Given the description of an element on the screen output the (x, y) to click on. 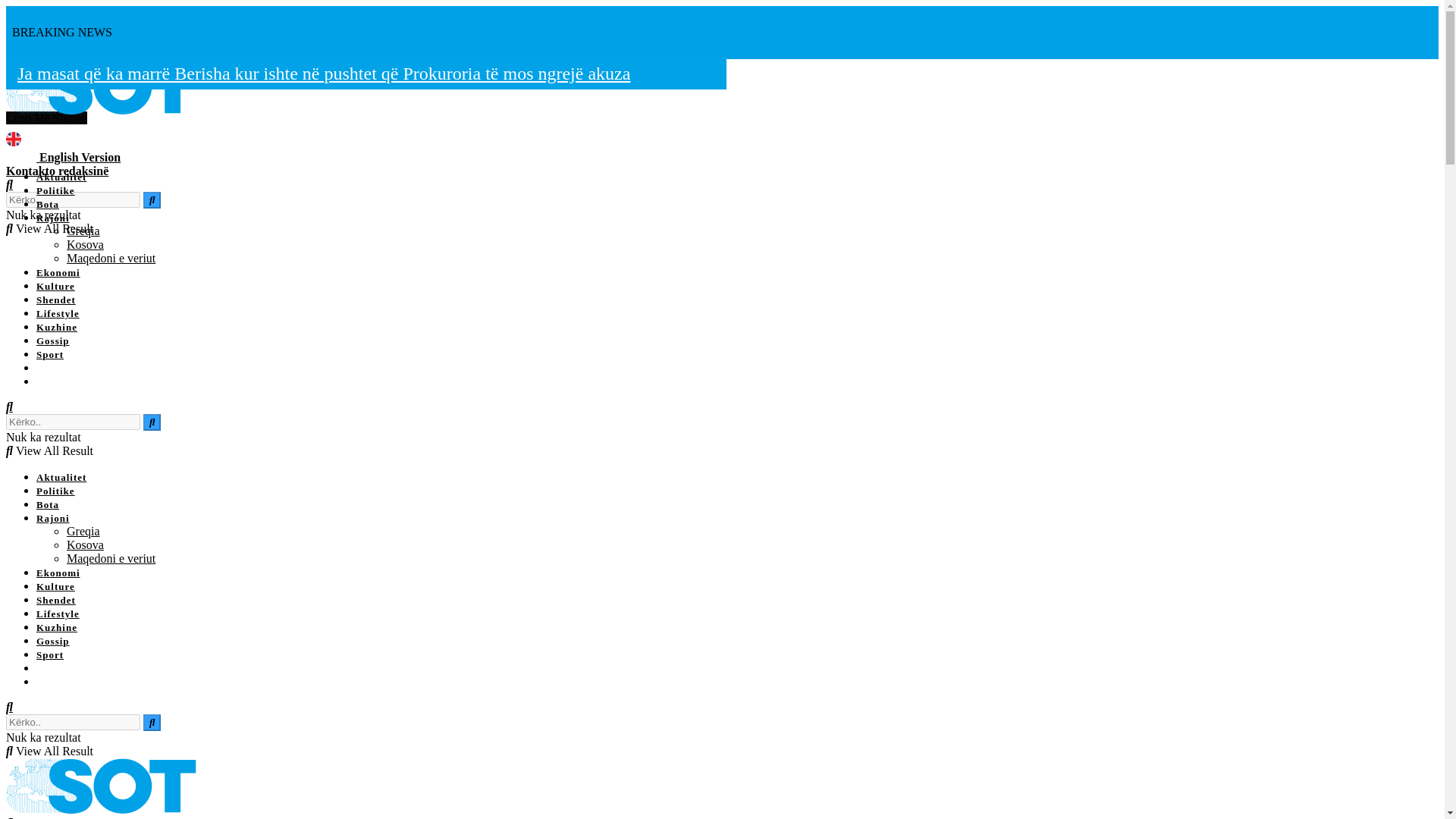
Kosova (84, 244)
English Version (78, 156)
Bota (47, 204)
Sport (50, 354)
Lifestyle (58, 313)
Politike (55, 190)
Kulture (55, 285)
Ekonomi (58, 272)
Gossip (52, 340)
Aktualitet (60, 176)
Maqedoni e veriut (110, 257)
Greqia (83, 230)
Shendet (55, 299)
Kuzhine (56, 326)
Rajoni (52, 217)
